Given the description of an element on the screen output the (x, y) to click on. 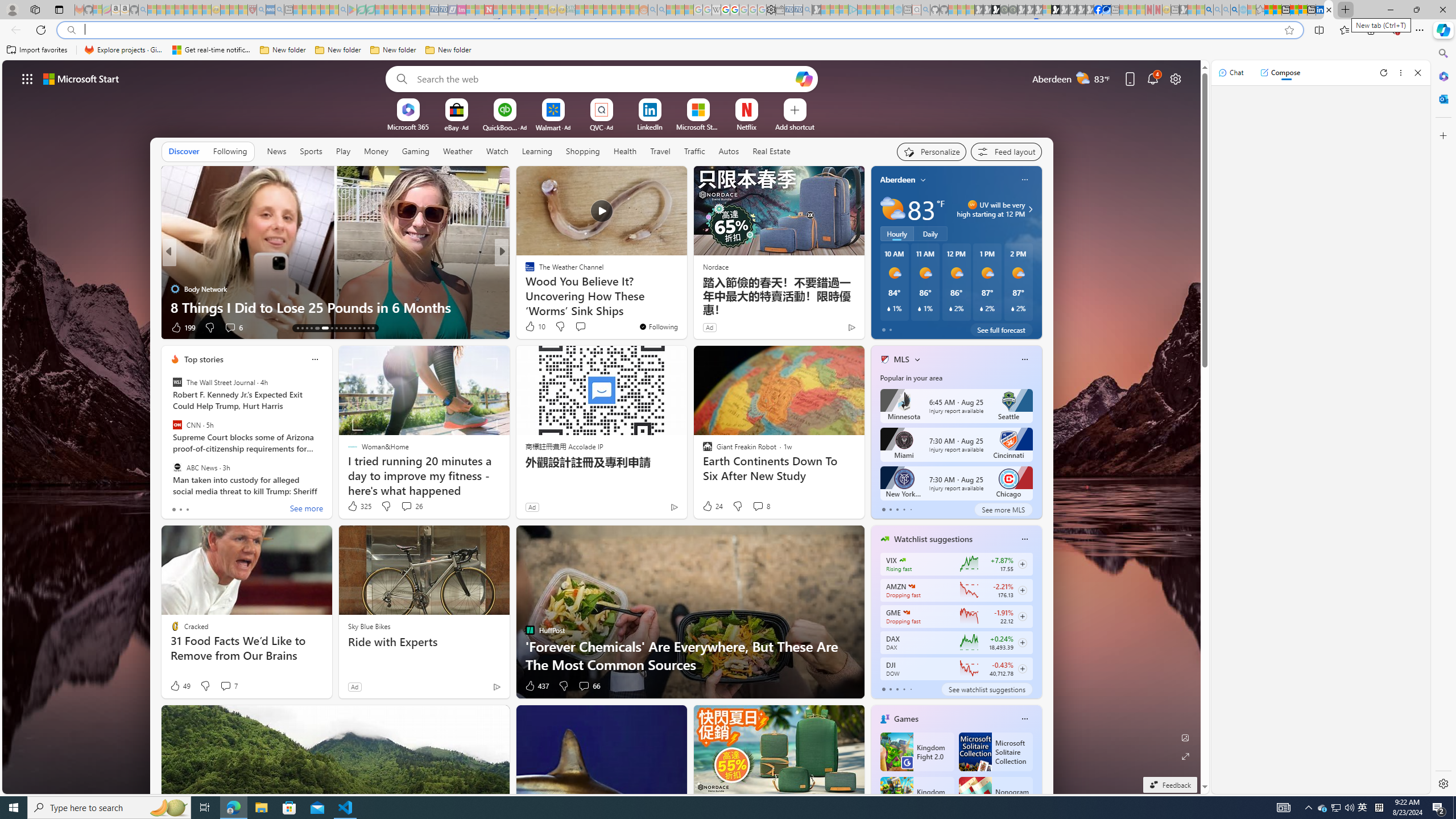
Class: follow-button  m (1021, 668)
Shopping (582, 151)
Secret History (524, 288)
Kingdom Fight (916, 796)
Sky Blue Bikes (368, 625)
24 Like (712, 505)
Jobs - lastminute.com Investor Portal - Sleeping (461, 9)
View comments 10 Comment (580, 327)
